Given the description of an element on the screen output the (x, y) to click on. 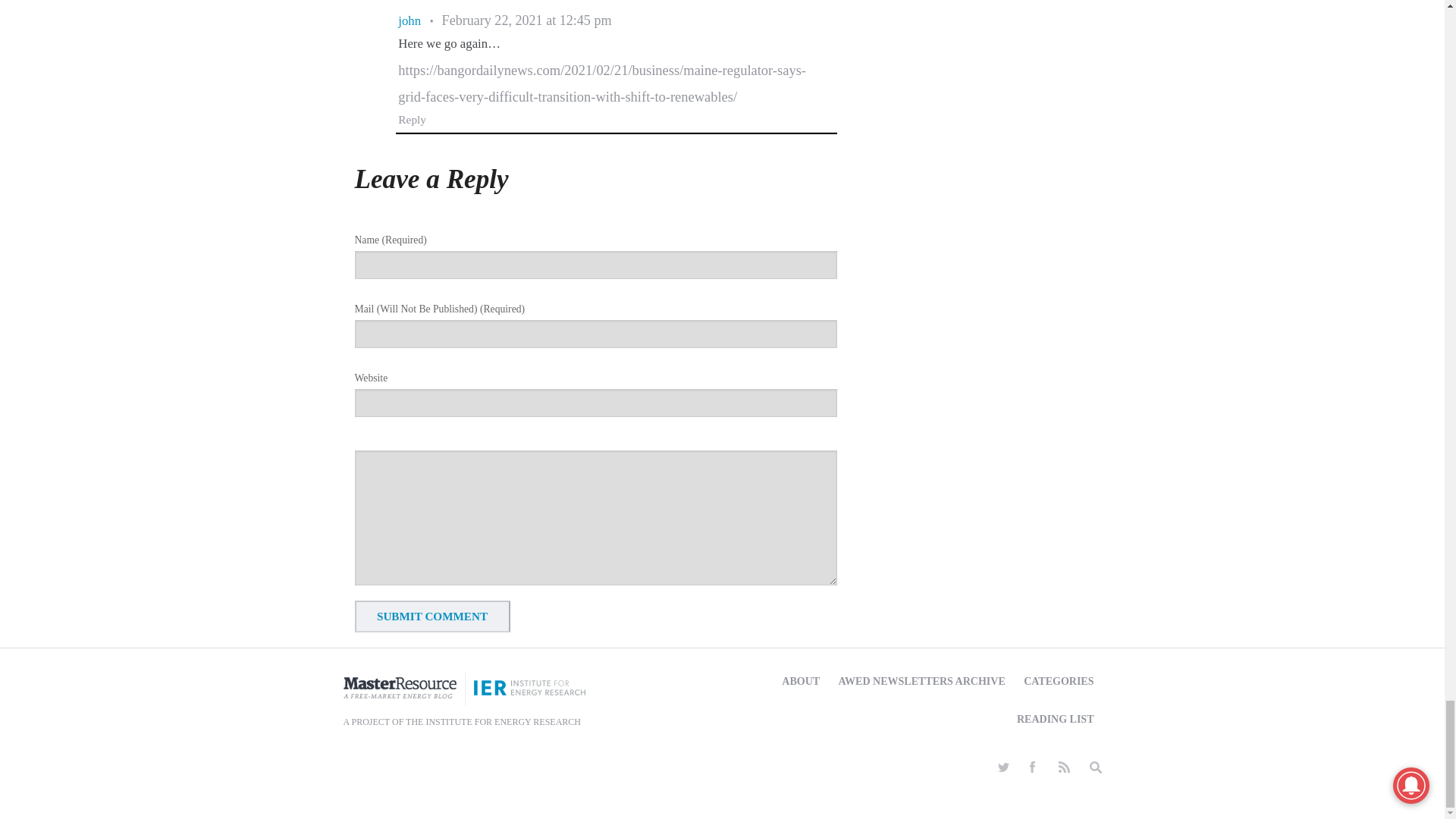
john (408, 20)
Reply (411, 119)
Submit Comment (433, 616)
February 22, 2021 at 12:45 pm (526, 20)
Submit Comment (433, 616)
